Given the description of an element on the screen output the (x, y) to click on. 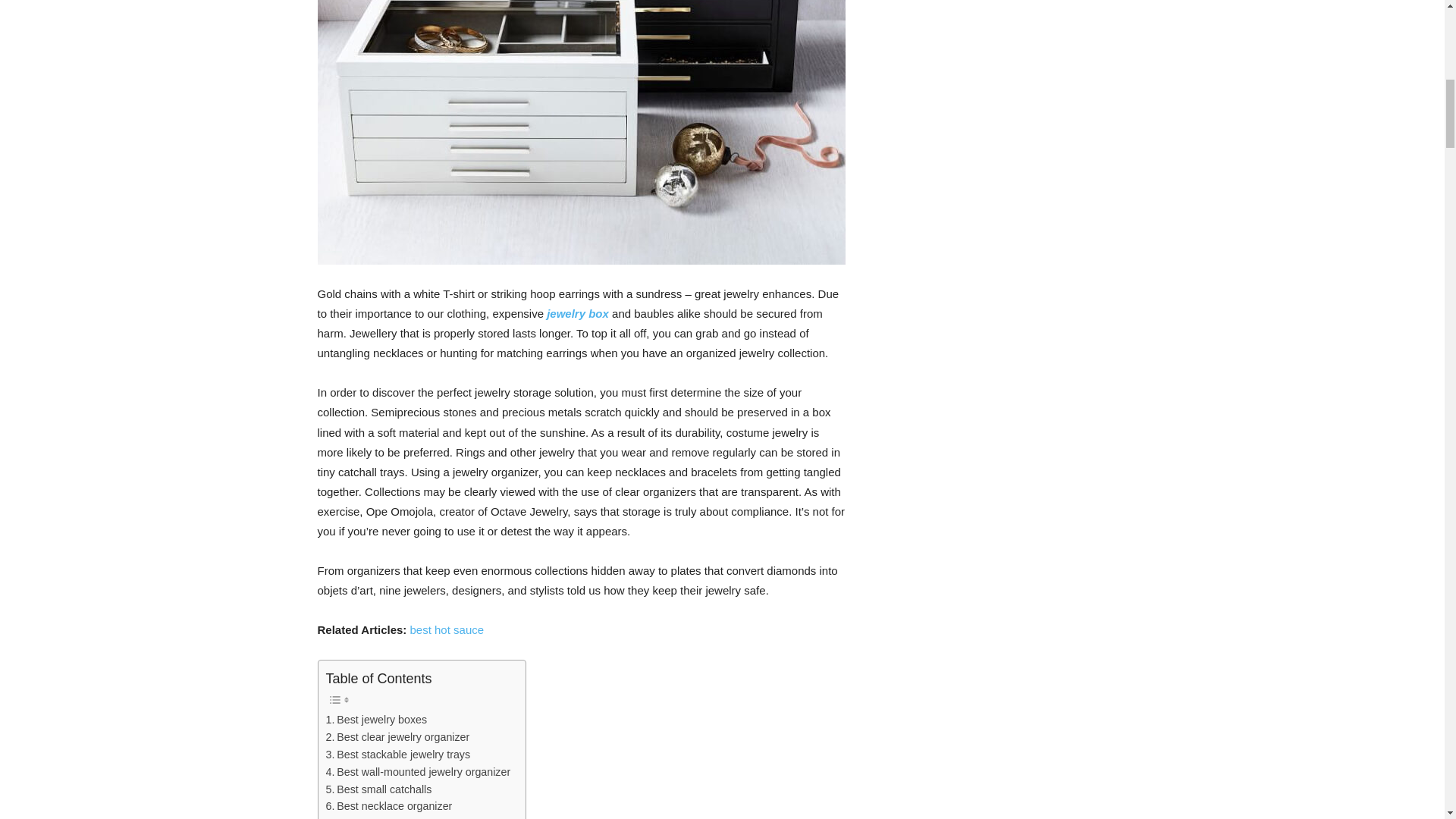
jewelry box (577, 313)
best hot sauce (446, 629)
Best clear jewelry organizer (398, 737)
Best jewelry boxes (377, 719)
Best jewelry boxes (377, 719)
